Given the description of an element on the screen output the (x, y) to click on. 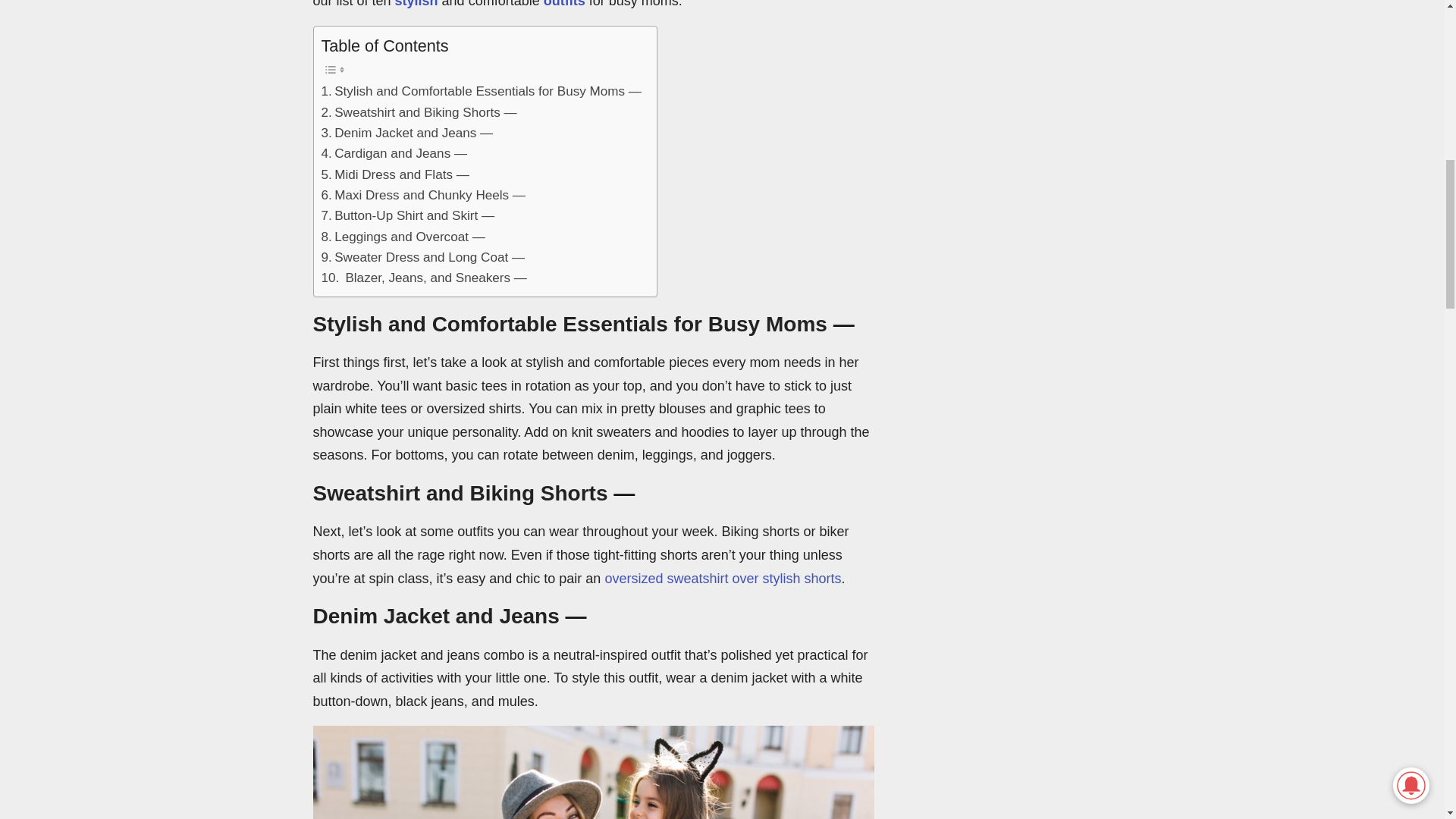
outfits (564, 4)
stylish (416, 4)
